Given the description of an element on the screen output the (x, y) to click on. 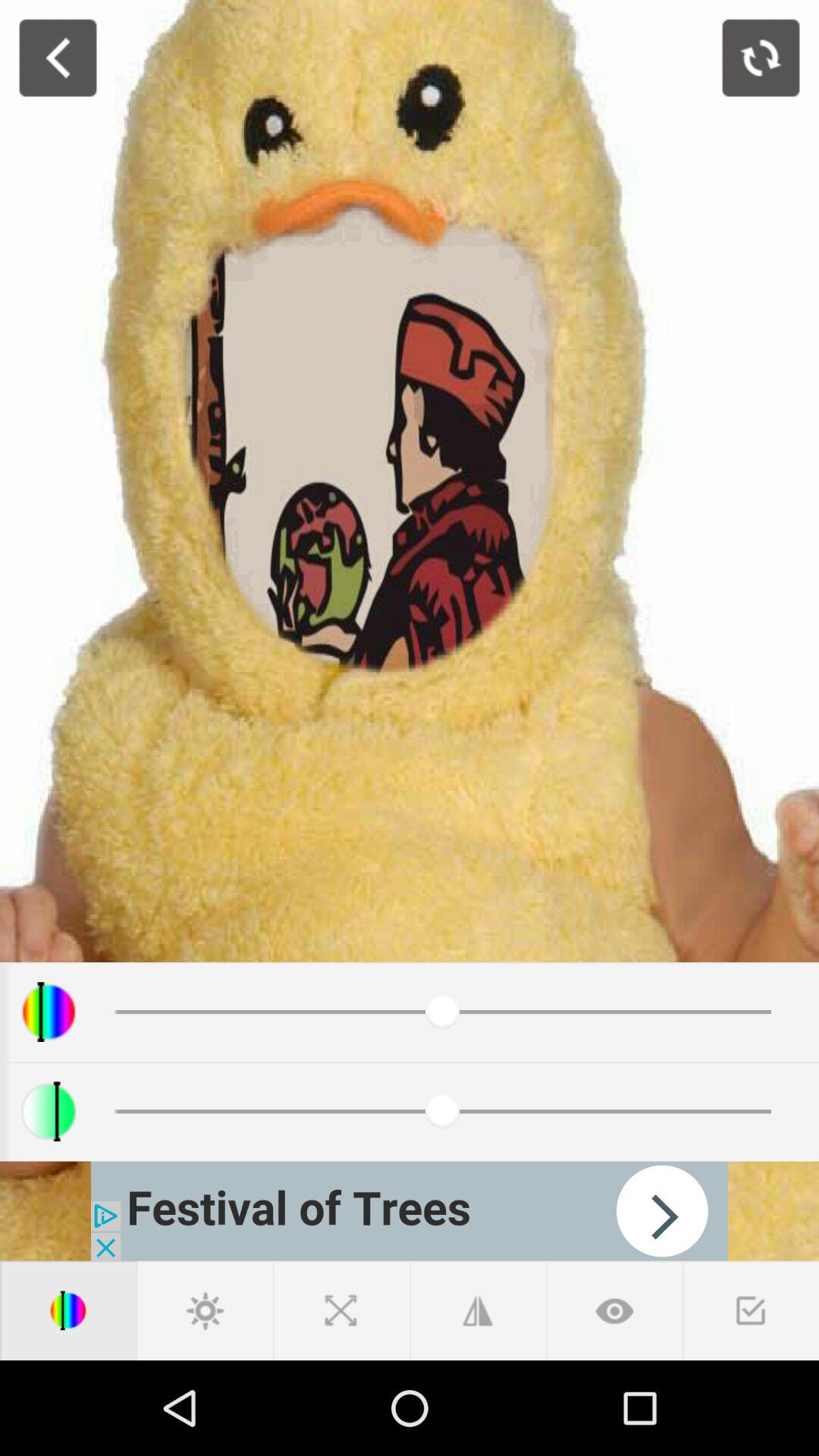
setting page (204, 1310)
